Given the description of an element on the screen output the (x, y) to click on. 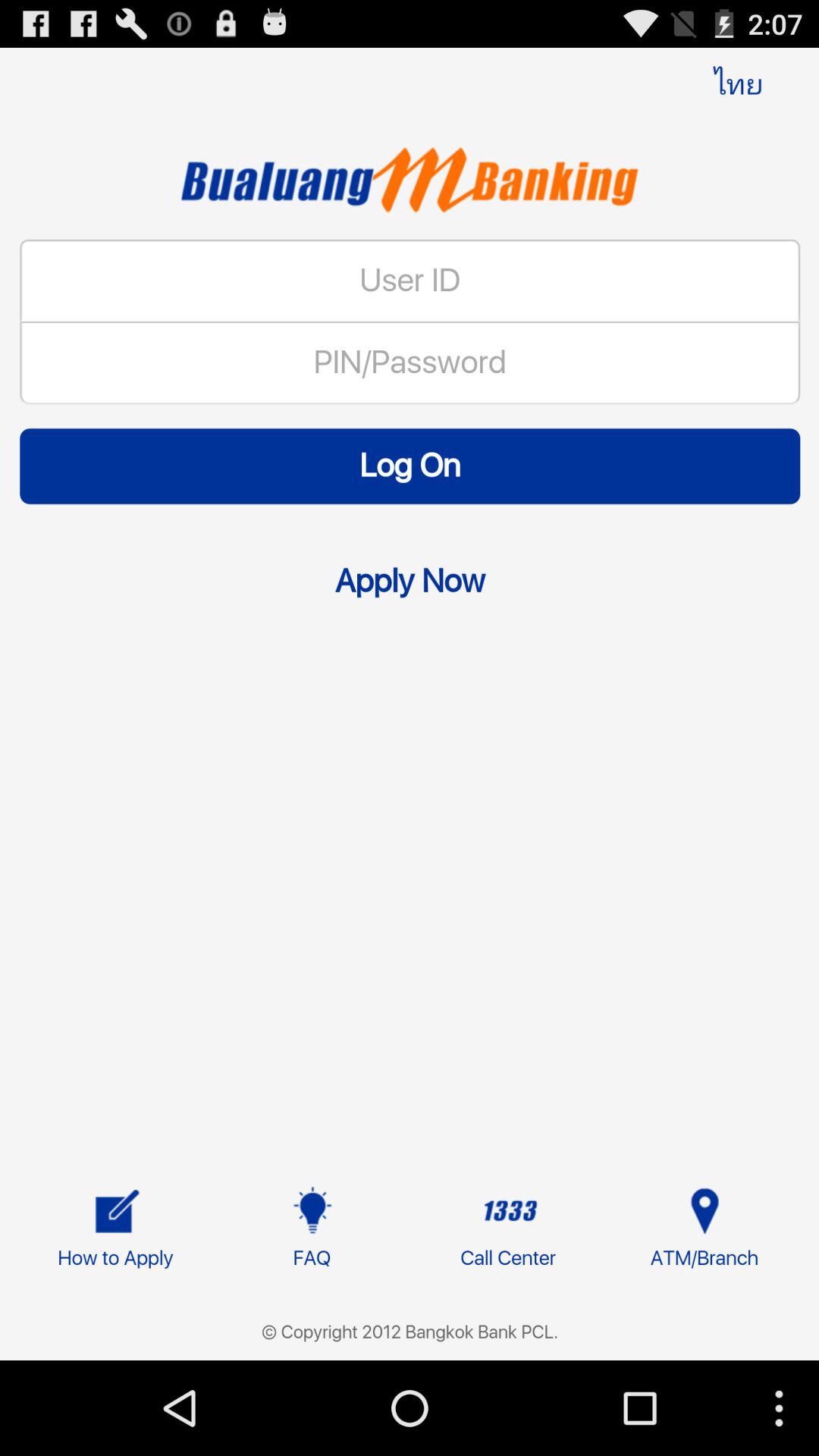
setup banking page (409, 740)
